Given the description of an element on the screen output the (x, y) to click on. 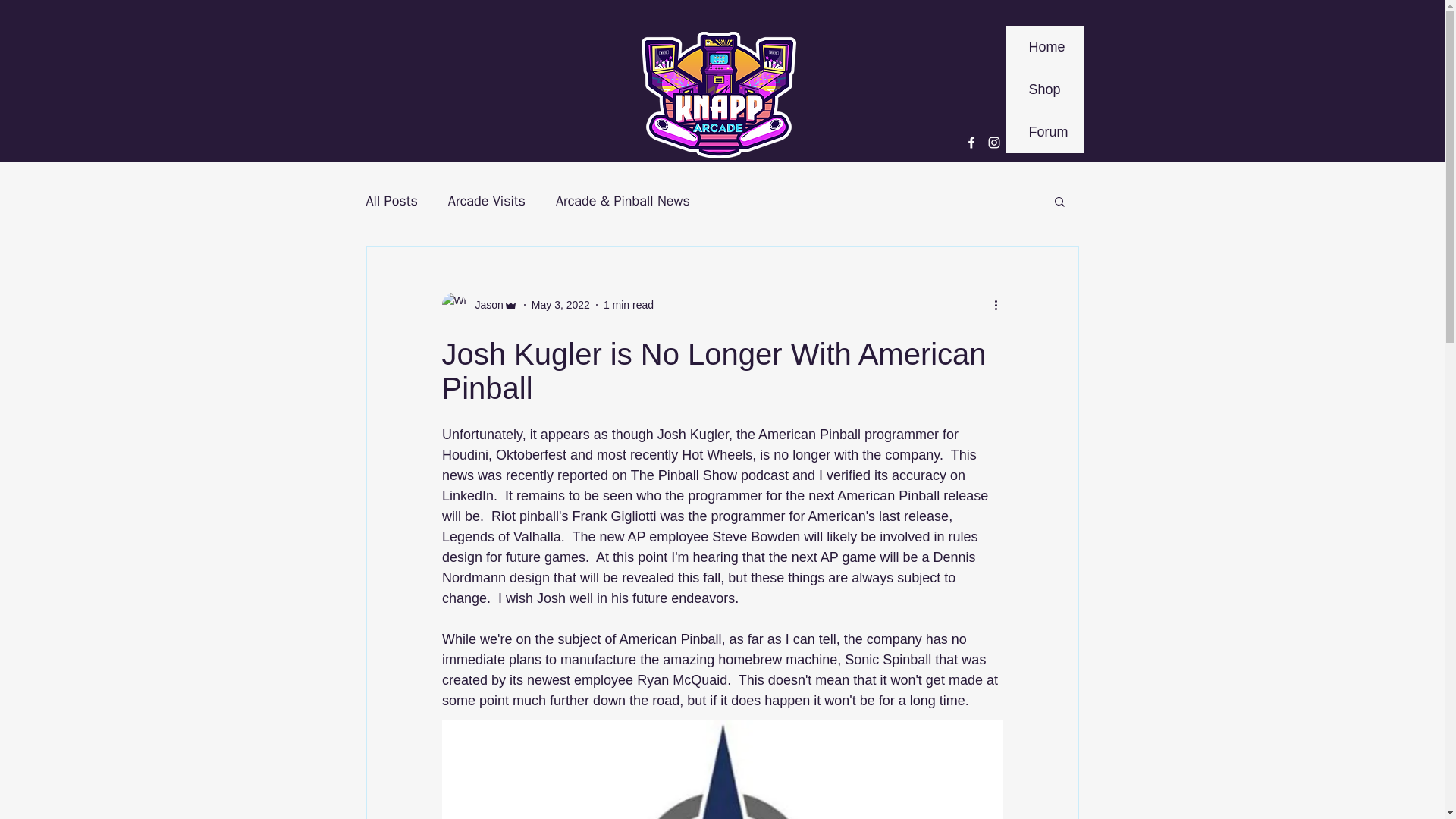
Jason (478, 304)
Shop (1044, 88)
All Posts (390, 200)
Arcade Visits (486, 200)
1 min read (628, 304)
Home (1044, 46)
Jason (483, 304)
Forum (1044, 131)
Home (735, 227)
May 3, 2022 (560, 304)
